Given the description of an element on the screen output the (x, y) to click on. 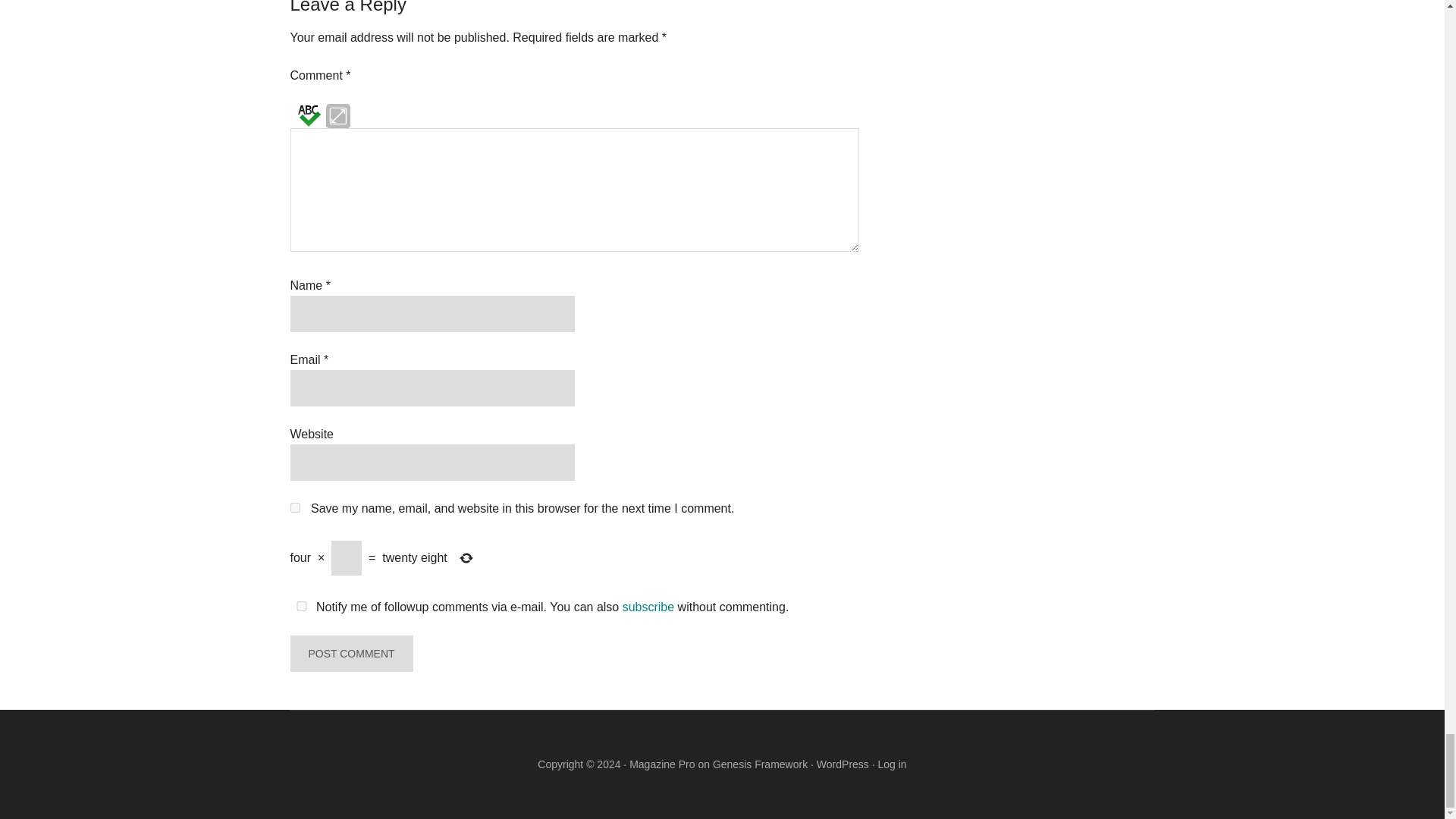
Post Comment (350, 653)
yes (294, 507)
yes (301, 605)
